Given the description of an element on the screen output the (x, y) to click on. 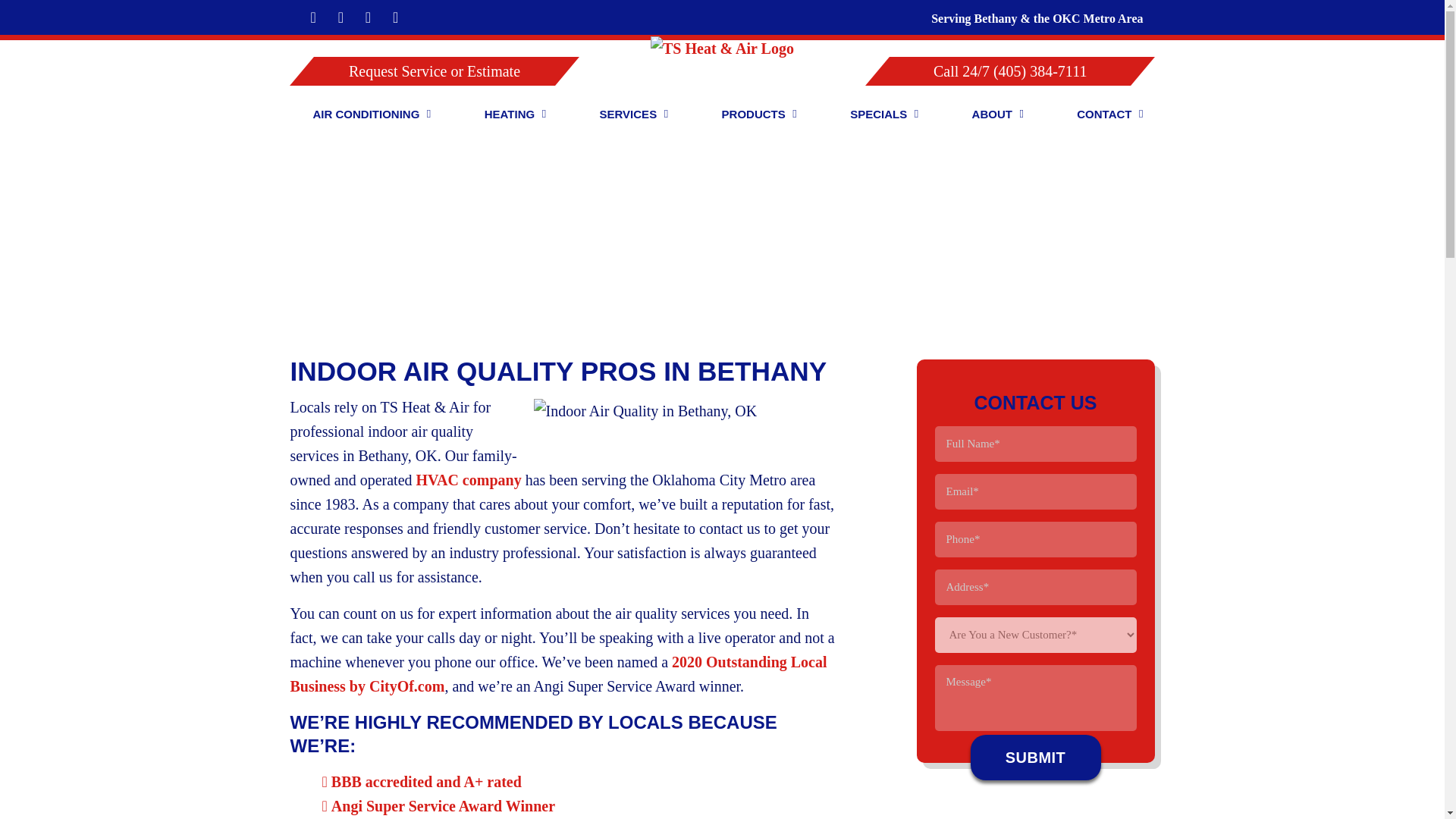
Submit (1035, 757)
AIR CONDITIONING (365, 114)
SPECIALS (878, 114)
HEATING (509, 114)
ABOUT (991, 114)
PRODUCTS (753, 114)
SERVICES (628, 114)
Request Service or Estimate (421, 70)
